Given the description of an element on the screen output the (x, y) to click on. 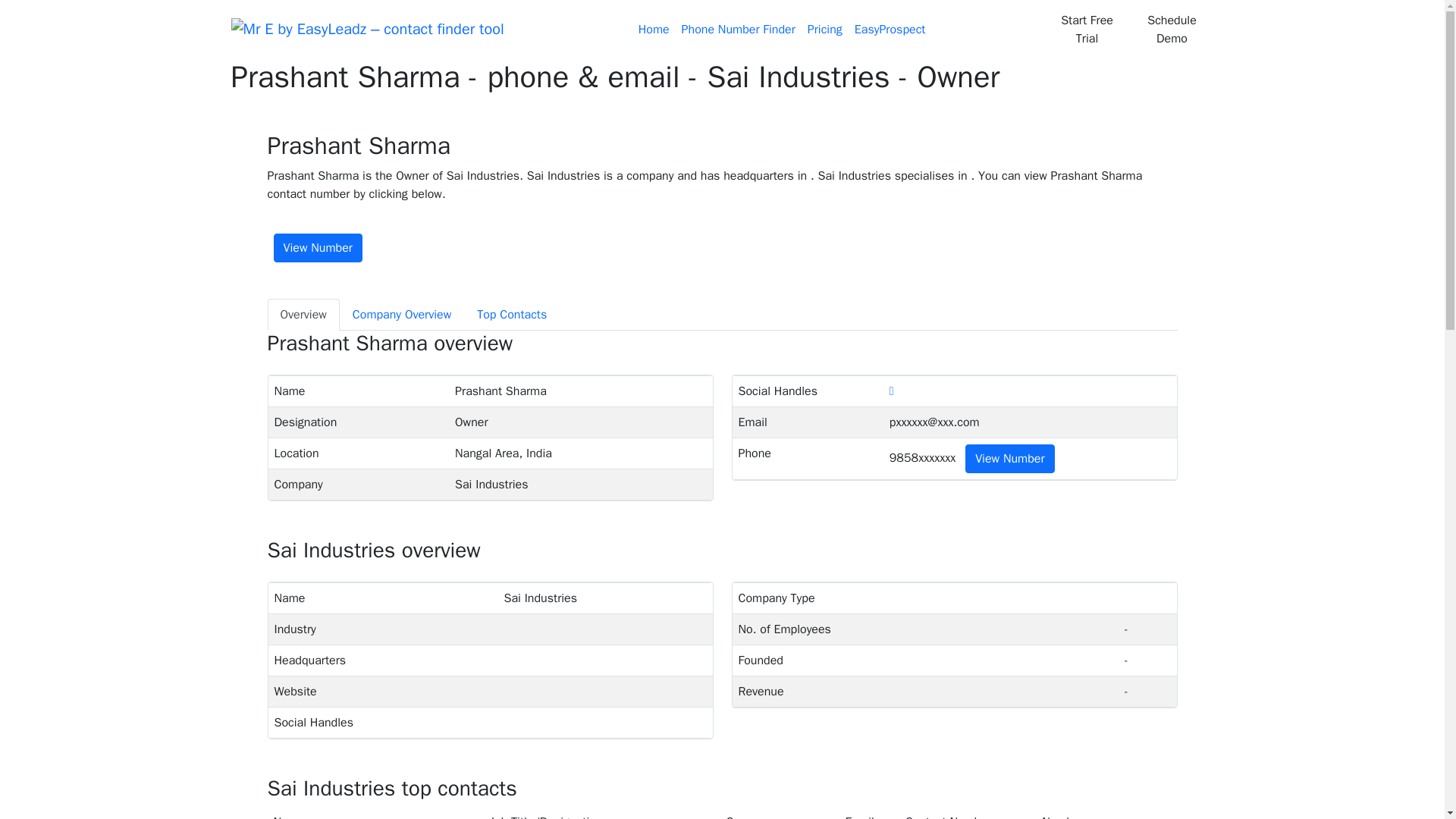
Overview (302, 314)
Phone Number Finder (738, 29)
Start Free Trial (1085, 29)
View Number (1009, 458)
Home (653, 29)
EasyProspect (889, 29)
Schedule Demo (1172, 29)
Phone Number Finder (738, 29)
EasyProspect (889, 29)
Home (653, 29)
Top Contacts (511, 314)
Pricing (825, 29)
Pricing (825, 29)
View Number (317, 247)
Company Overview (401, 314)
